Given the description of an element on the screen output the (x, y) to click on. 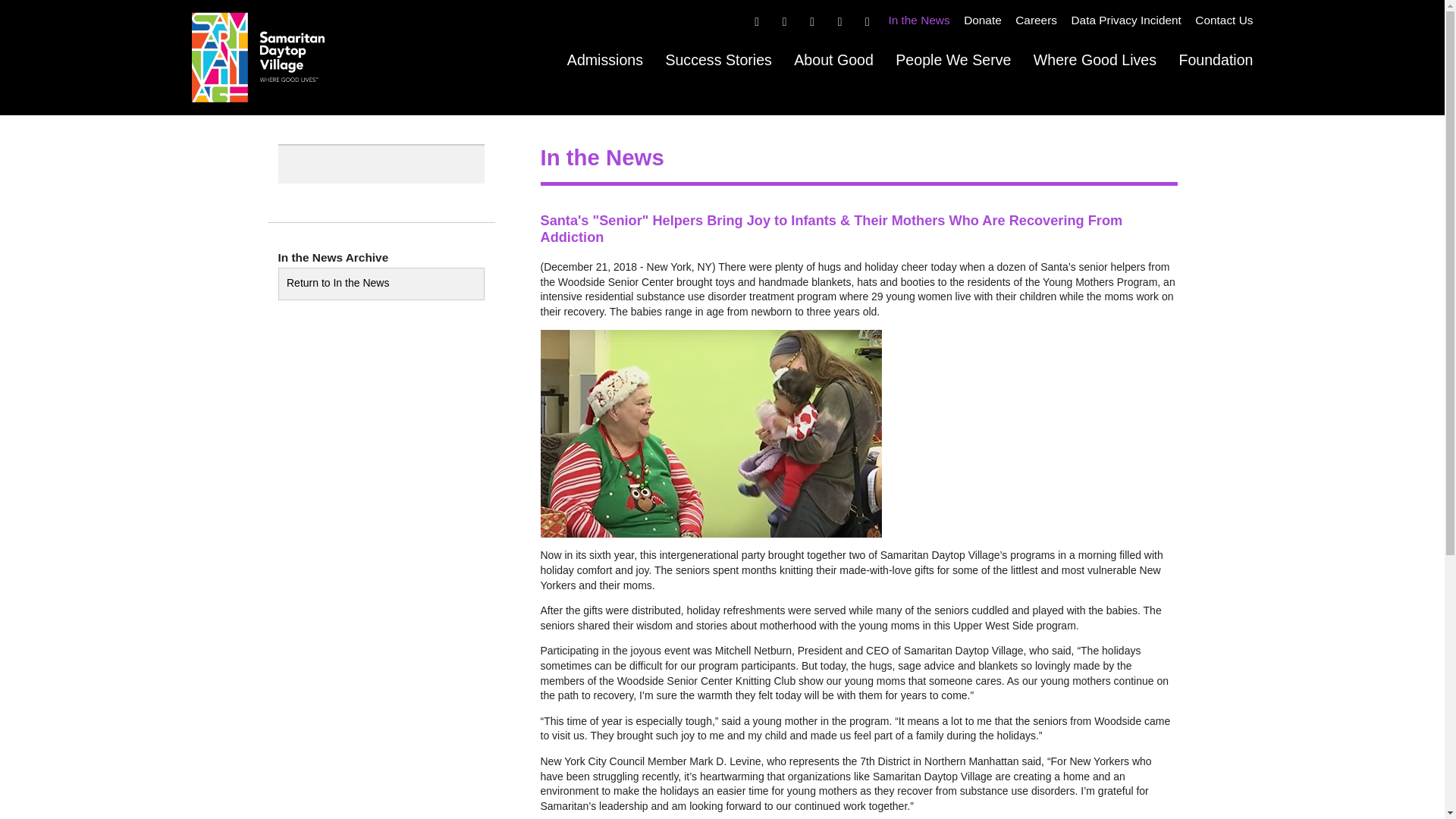
Facebook (755, 20)
Instagram (811, 20)
Where Good Lives (1094, 59)
YouTube (867, 20)
Twitter (784, 20)
Donate (982, 19)
Foundation (1214, 59)
LinkedIn (838, 20)
Success Stories (718, 59)
Admissions (605, 59)
Careers (1035, 19)
Contact Us (1223, 19)
Data Privacy Incident (1125, 19)
Return to In the News (380, 283)
People We Serve (952, 59)
